Given the description of an element on the screen output the (x, y) to click on. 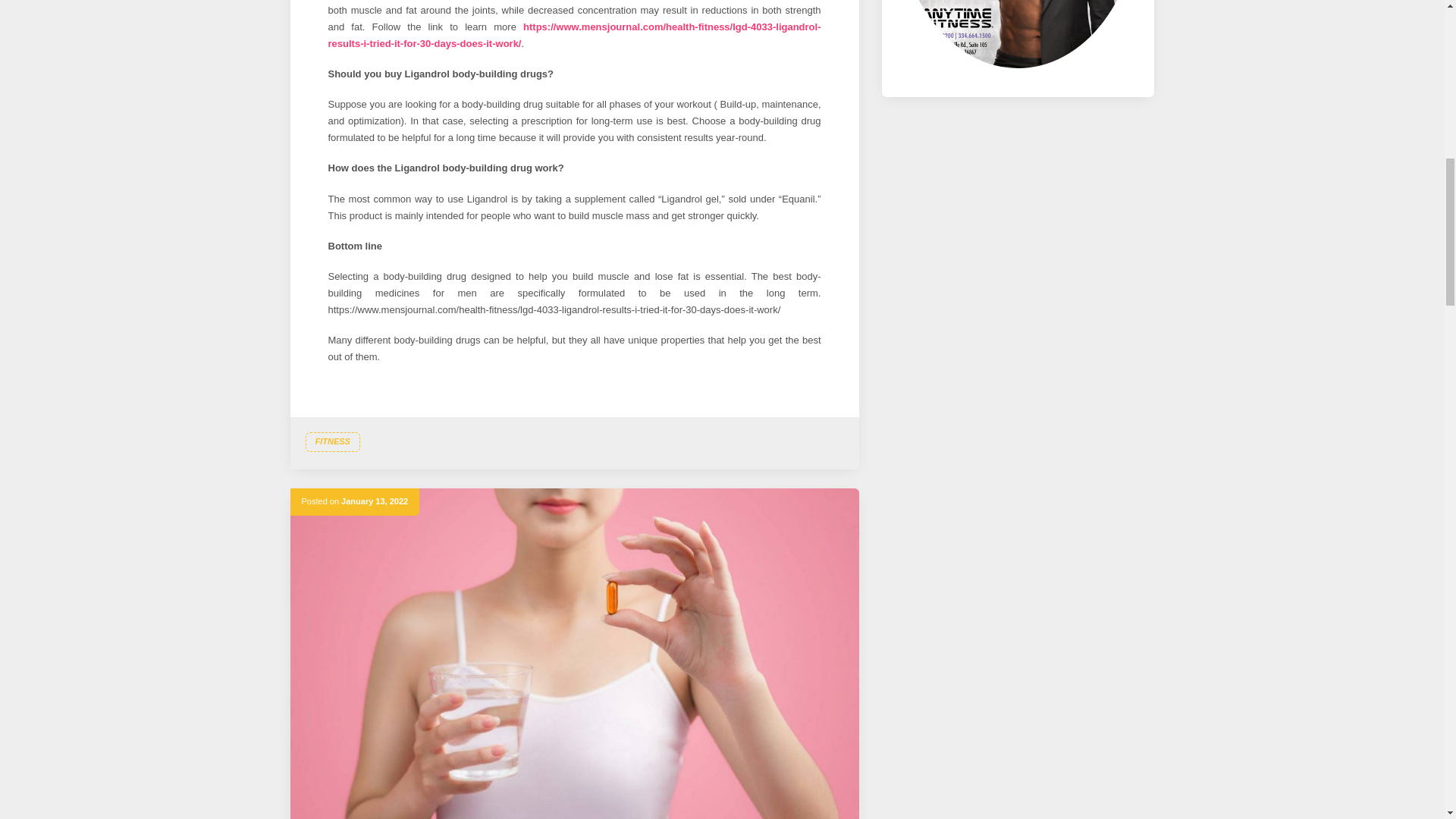
FITNESS (331, 442)
January 13, 2022 (373, 501)
